Given the description of an element on the screen output the (x, y) to click on. 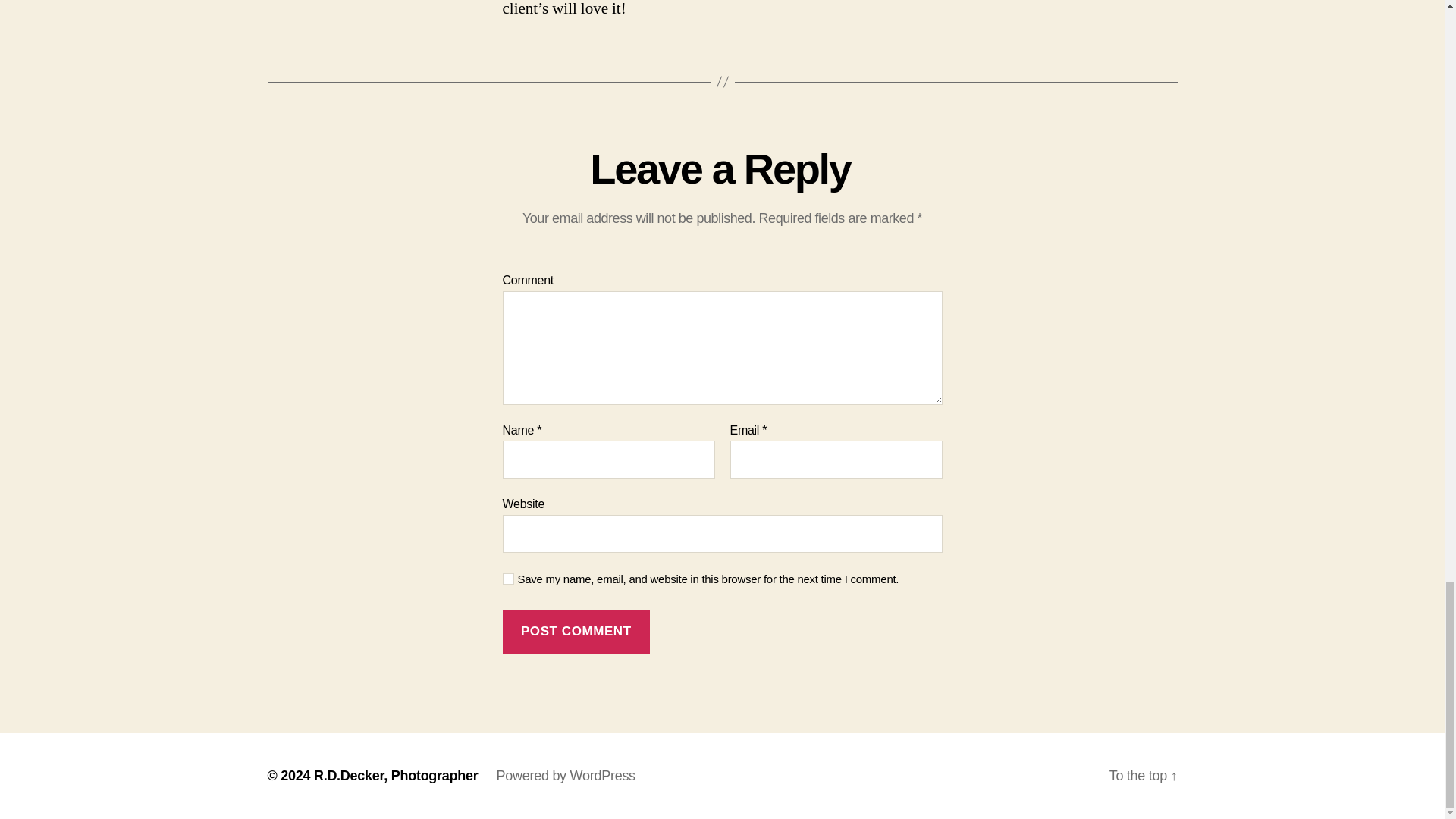
yes (507, 578)
Post Comment (575, 631)
Post Comment (575, 631)
R.D.Decker, Photographer (396, 775)
Powered by WordPress (565, 775)
